Given the description of an element on the screen output the (x, y) to click on. 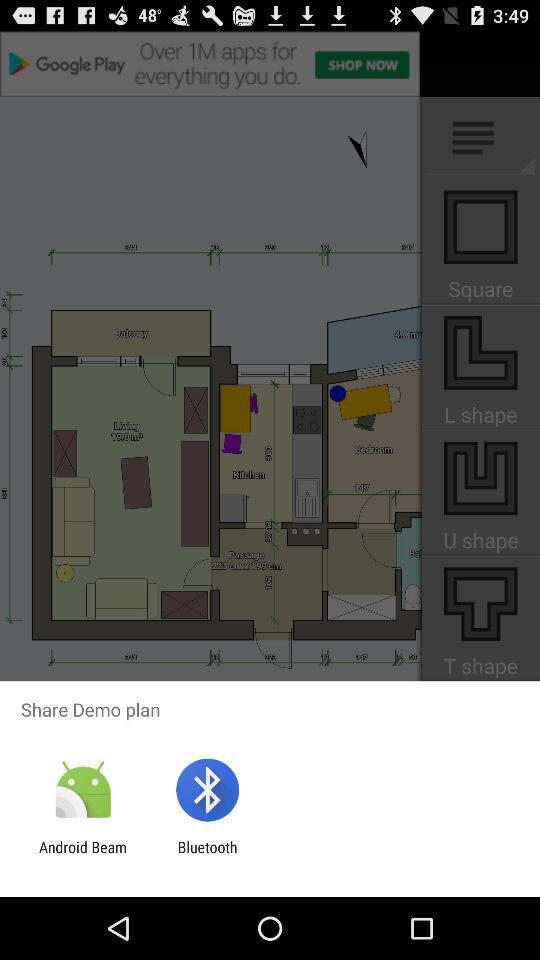
swipe until the android beam icon (83, 856)
